Given the description of an element on the screen output the (x, y) to click on. 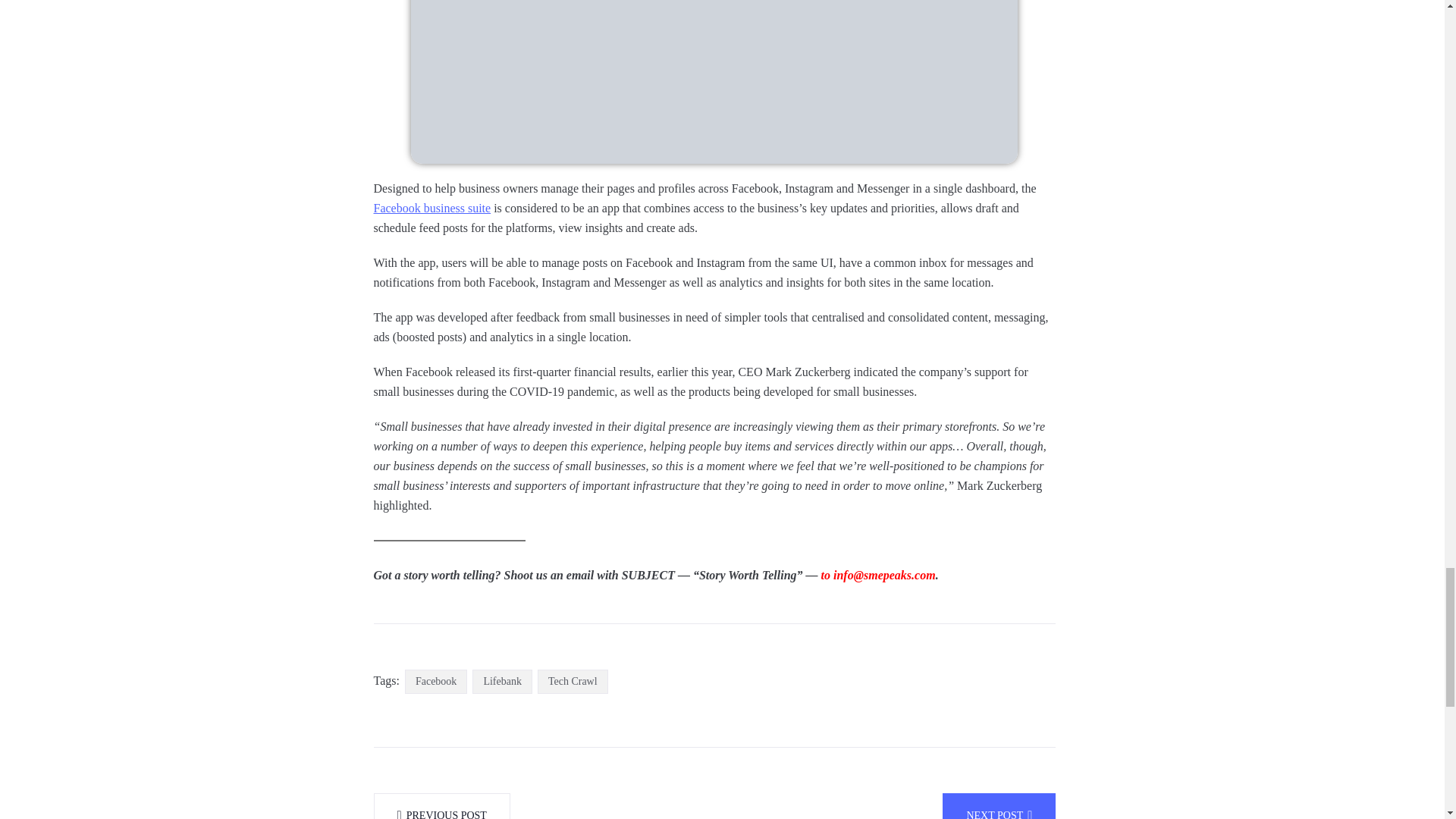
Lifebank (501, 681)
PREVIOUS POST (440, 806)
Tech Crawl (572, 681)
Facebook (435, 681)
Facebook business suite (431, 208)
